Given the description of an element on the screen output the (x, y) to click on. 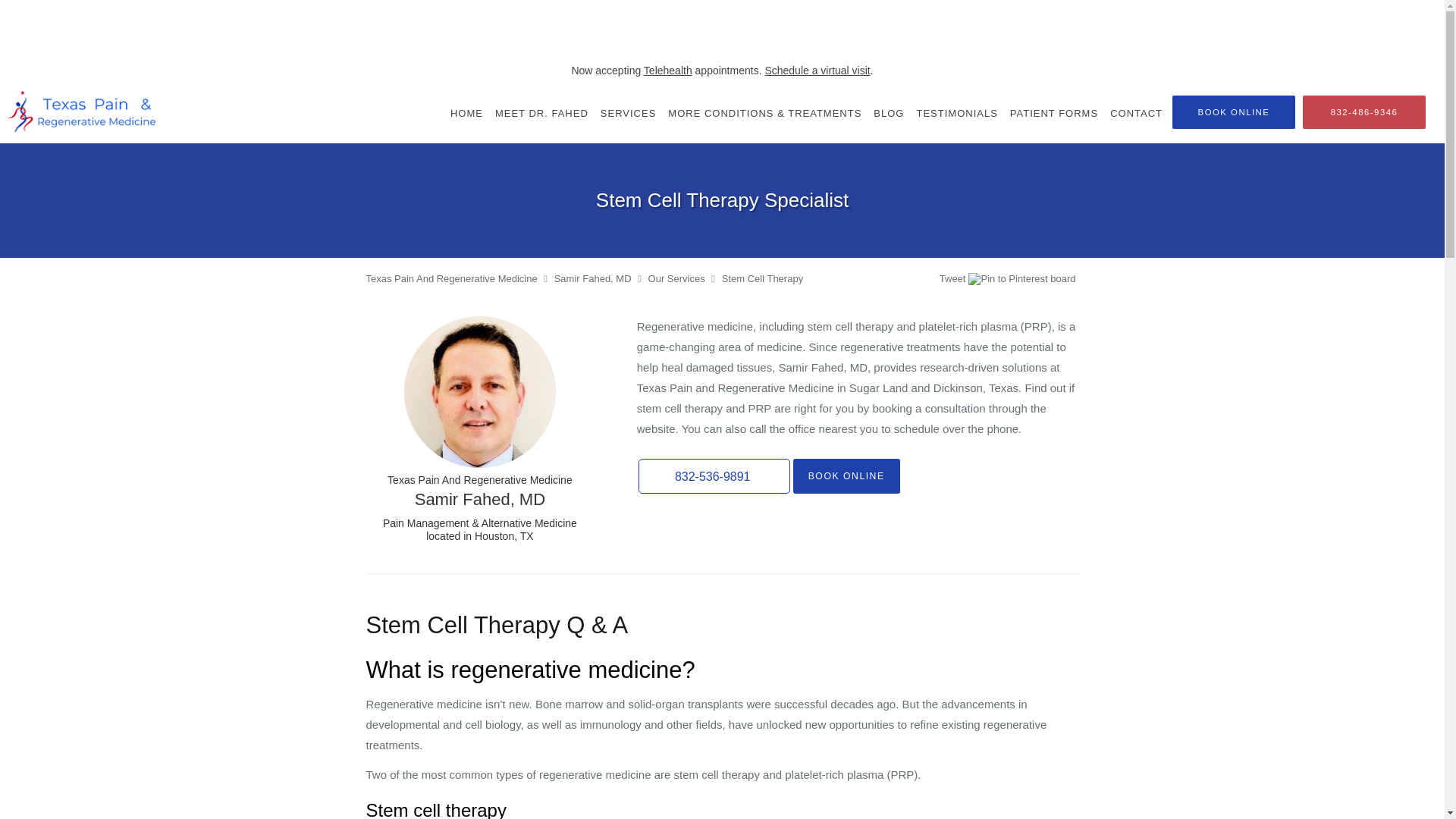
Facebook social button (880, 280)
MEET DR. FAHED (541, 112)
Skip to main content (74, 89)
Schedule a virtual visit (816, 70)
SERVICES (628, 112)
Telehealth (668, 70)
